Given the description of an element on the screen output the (x, y) to click on. 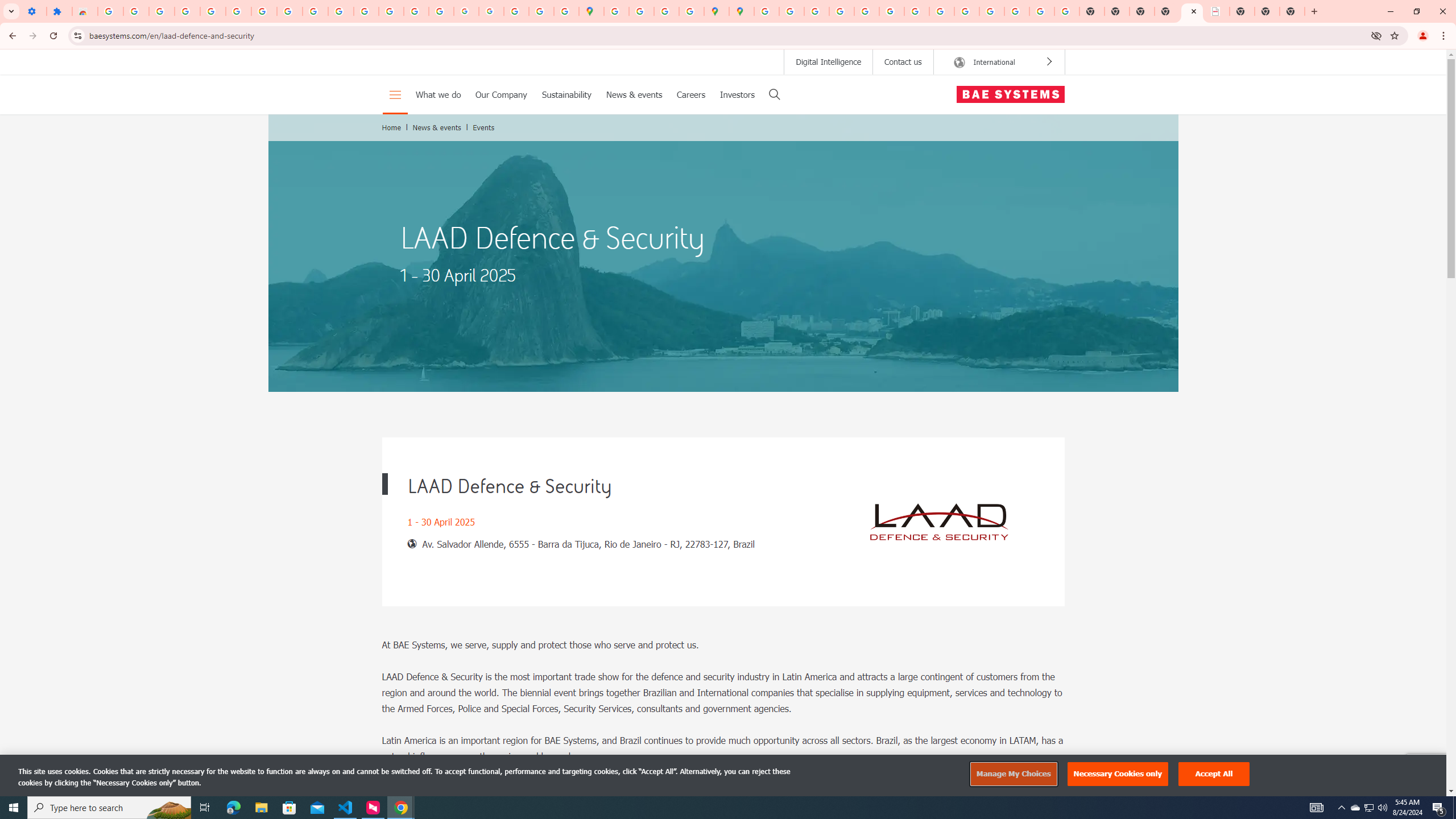
Google Maps (590, 11)
 International Region Icon (959, 62)
What we do (437, 94)
Google Account (289, 11)
Our Company (501, 94)
Browse Chrome as a guest - Computer - Google Chrome Help (941, 11)
LAAD Defence & Security 2025 | BAE Systems (1191, 11)
